Given the description of an element on the screen output the (x, y) to click on. 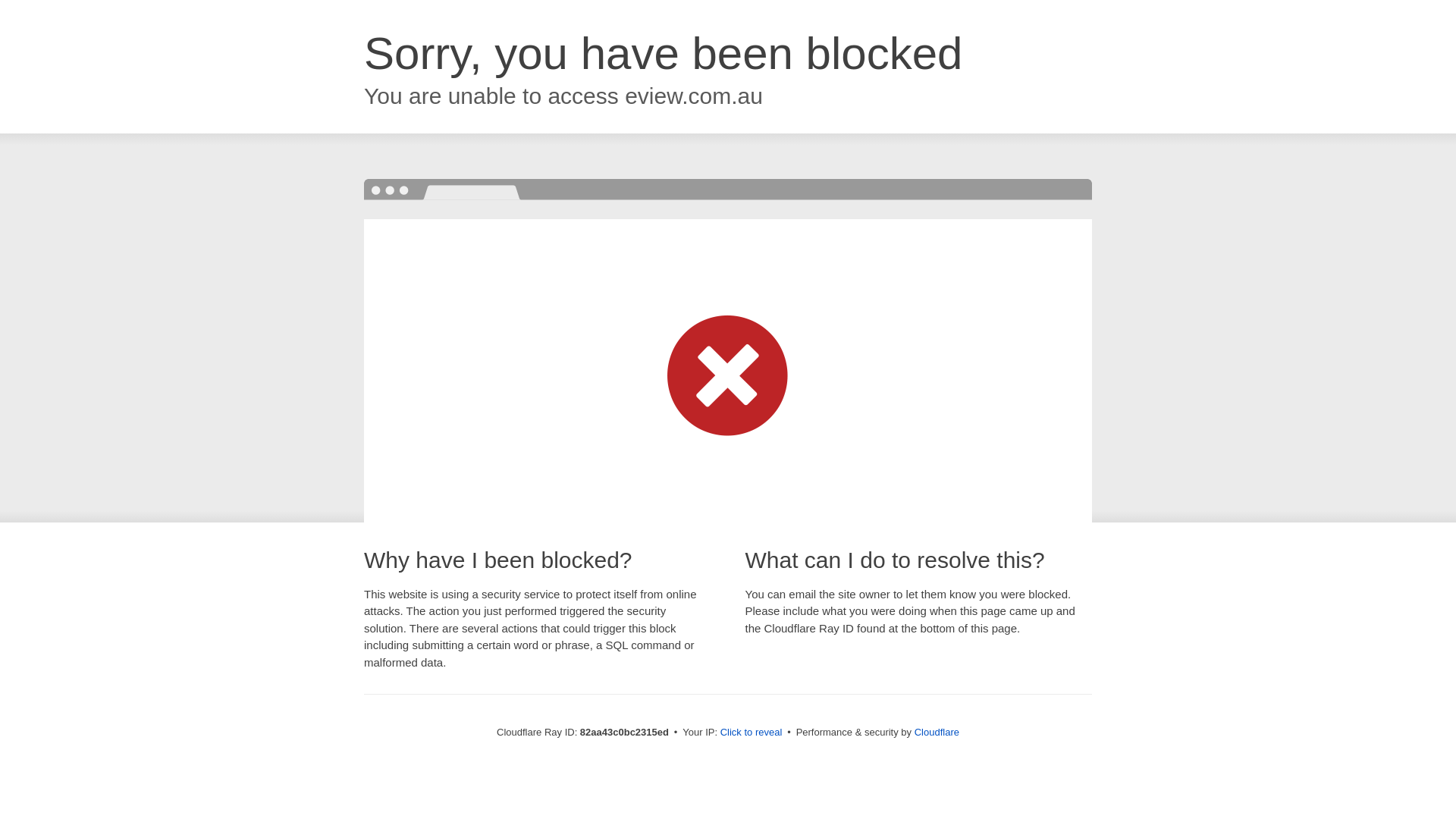
Click to reveal Element type: text (751, 732)
Cloudflare Element type: text (936, 731)
